Given the description of an element on the screen output the (x, y) to click on. 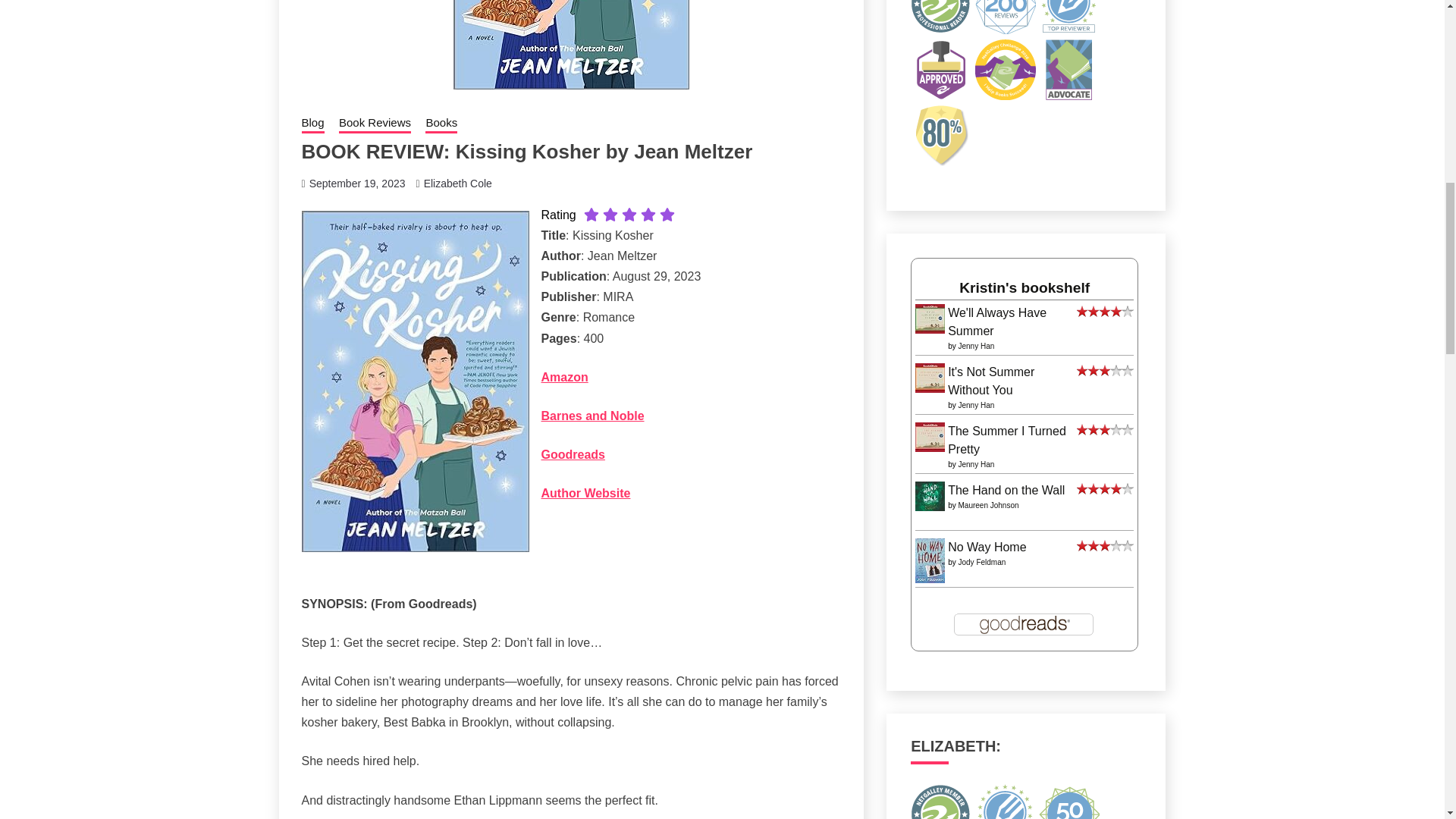
Book Reviews (374, 124)
Blog (312, 124)
Amazon (564, 377)
Author Website (585, 492)
2016 NetGalley Challenge (1005, 69)
September 19, 2023 (357, 183)
Barnes and Noble (593, 415)
2015 Challenge Participant (1069, 69)
Professional Reader (941, 17)
Frequently Auto-Approved (941, 69)
Elizabeth Cole (457, 183)
Goodreads (573, 454)
really liked it (1105, 312)
Reviews Published (1069, 17)
200 Book Reviews (1005, 17)
